Given the description of an element on the screen output the (x, y) to click on. 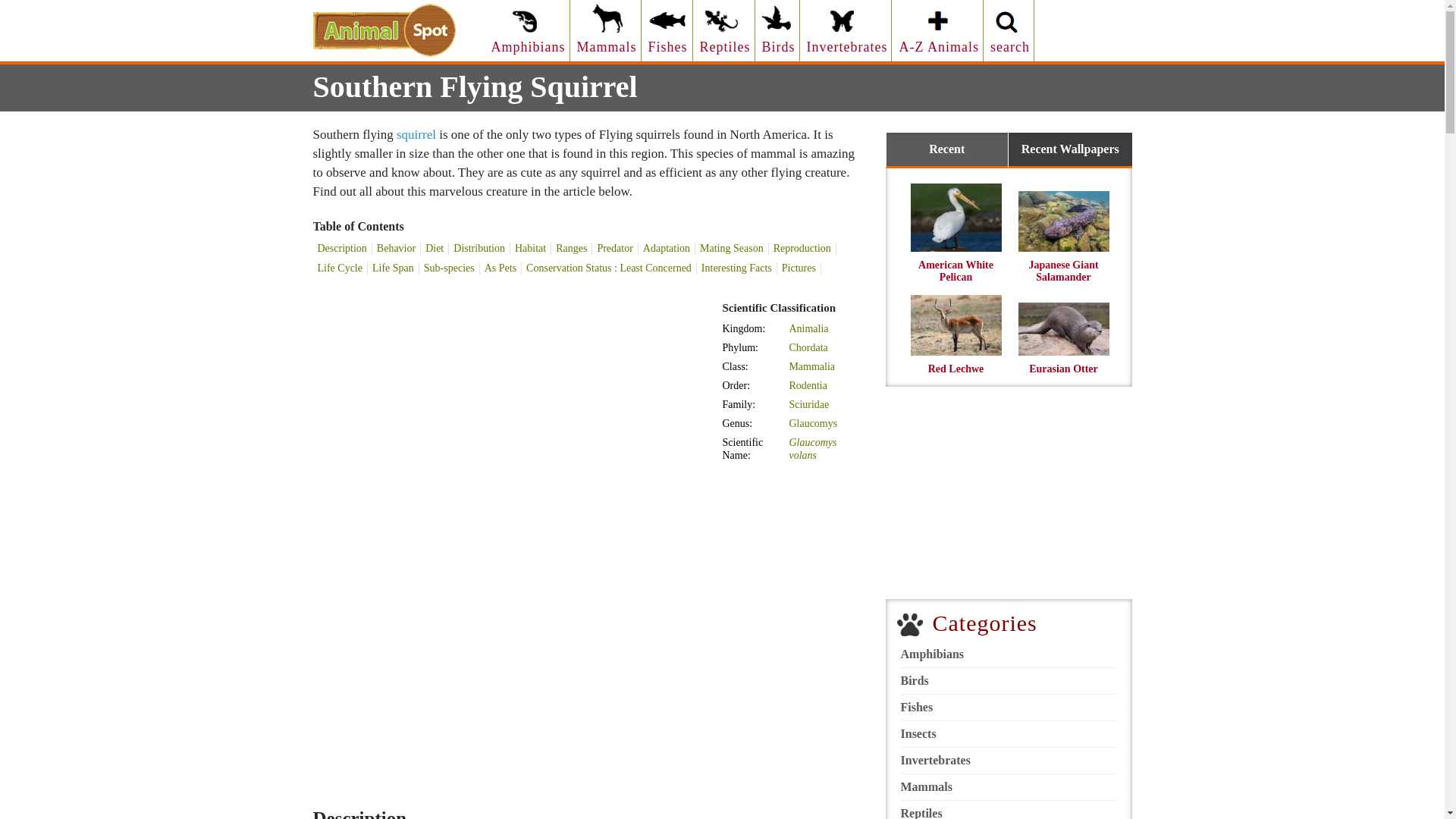
Sub-species (449, 268)
Ranges (571, 248)
squirrel (415, 134)
Mammals (606, 27)
Life Span (393, 268)
Fishes (667, 27)
Predator (614, 248)
Amphibians (529, 27)
Habitat (531, 248)
Description (342, 248)
Mating Season (731, 248)
As Pets (500, 268)
Adaptation (667, 248)
Behavior (396, 248)
Life Cycle (339, 268)
